Given the description of an element on the screen output the (x, y) to click on. 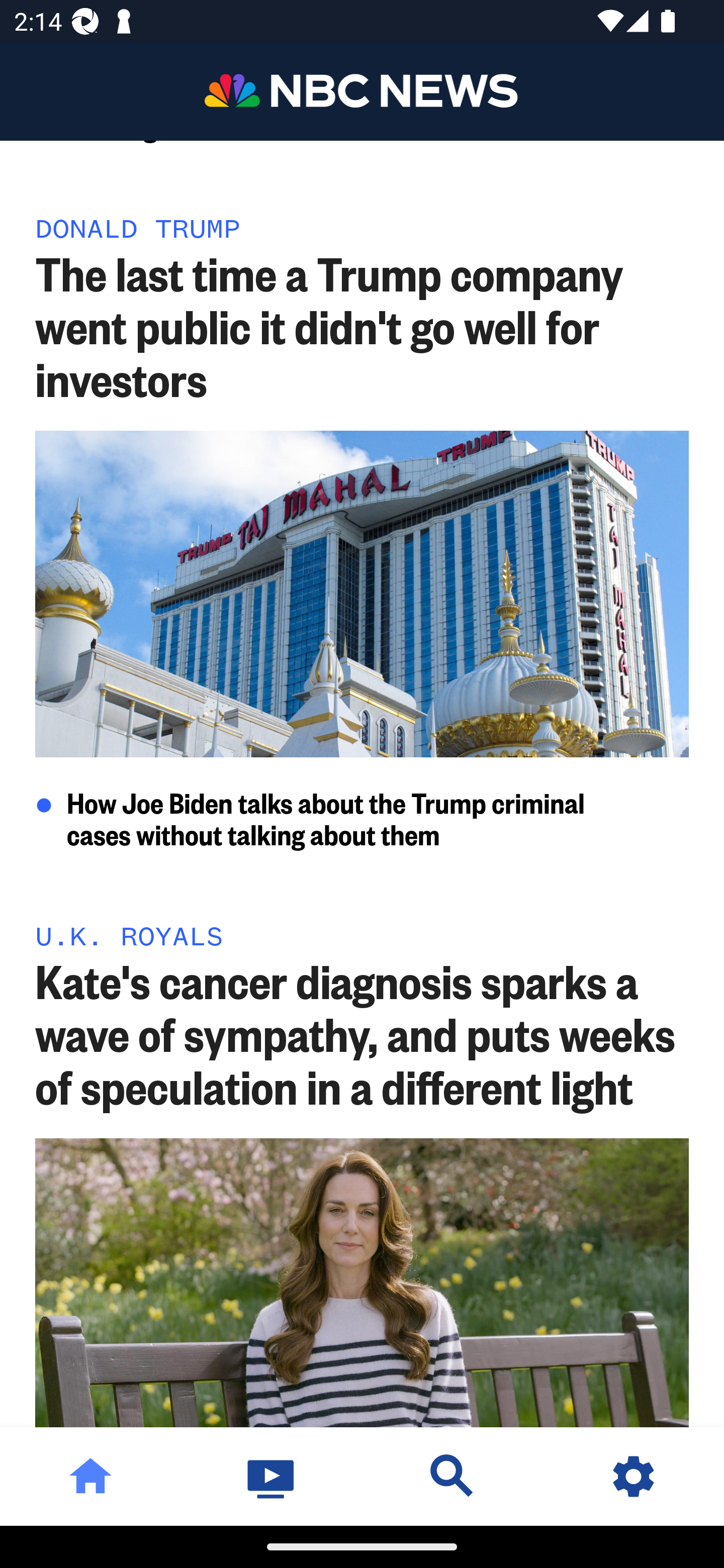
Watch (271, 1475)
Discover (452, 1475)
Settings (633, 1475)
